Given the description of an element on the screen output the (x, y) to click on. 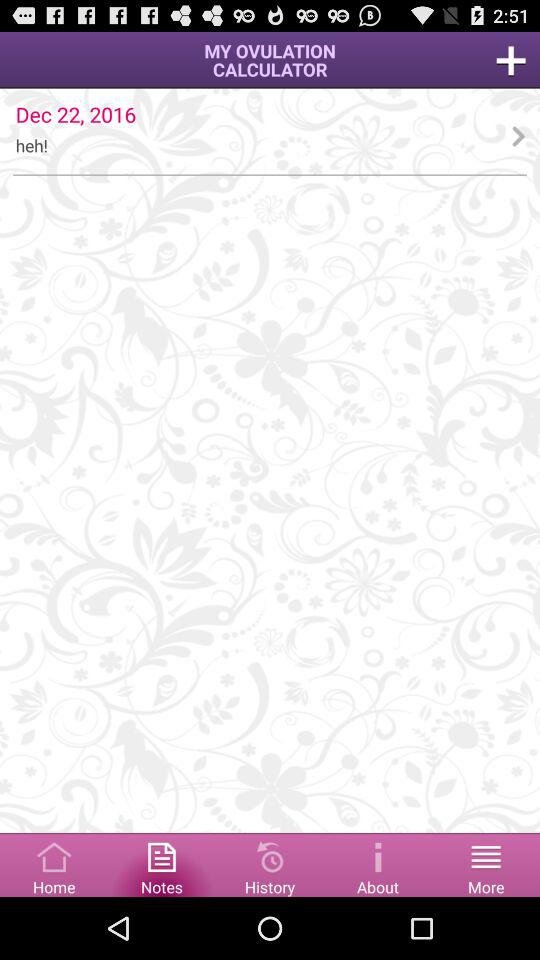
about (378, 864)
